Given the description of an element on the screen output the (x, y) to click on. 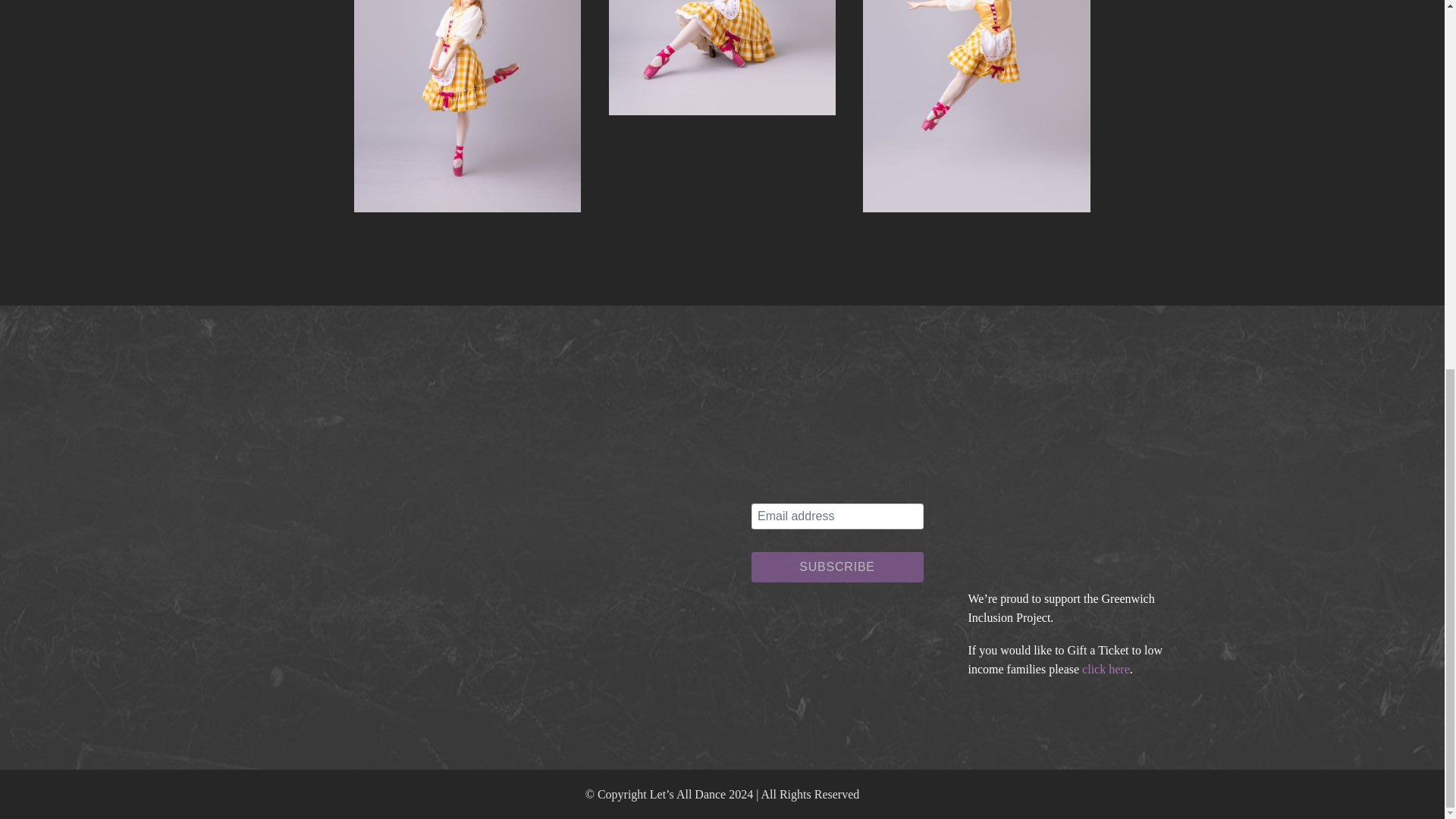
Subscribe (837, 567)
